Given the description of an element on the screen output the (x, y) to click on. 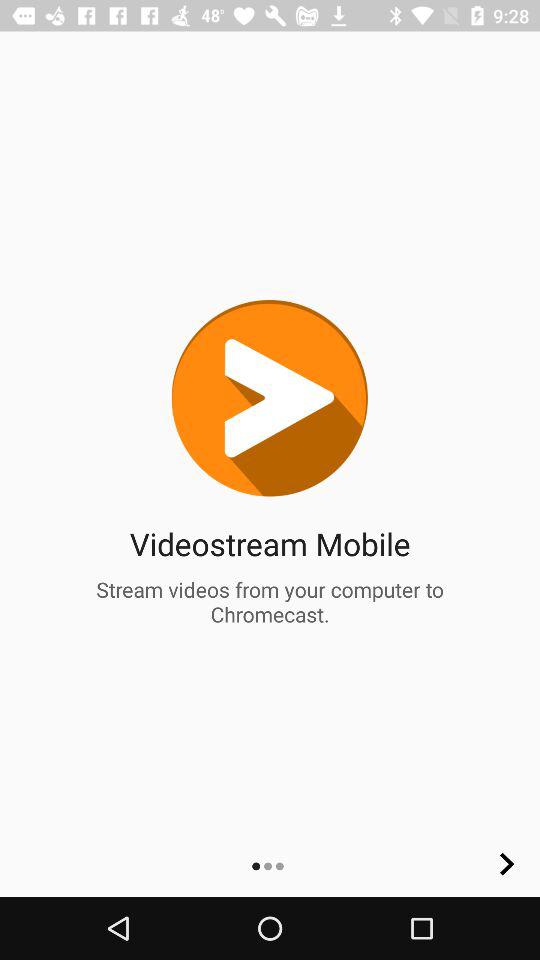
next the option (507, 864)
